Given the description of an element on the screen output the (x, y) to click on. 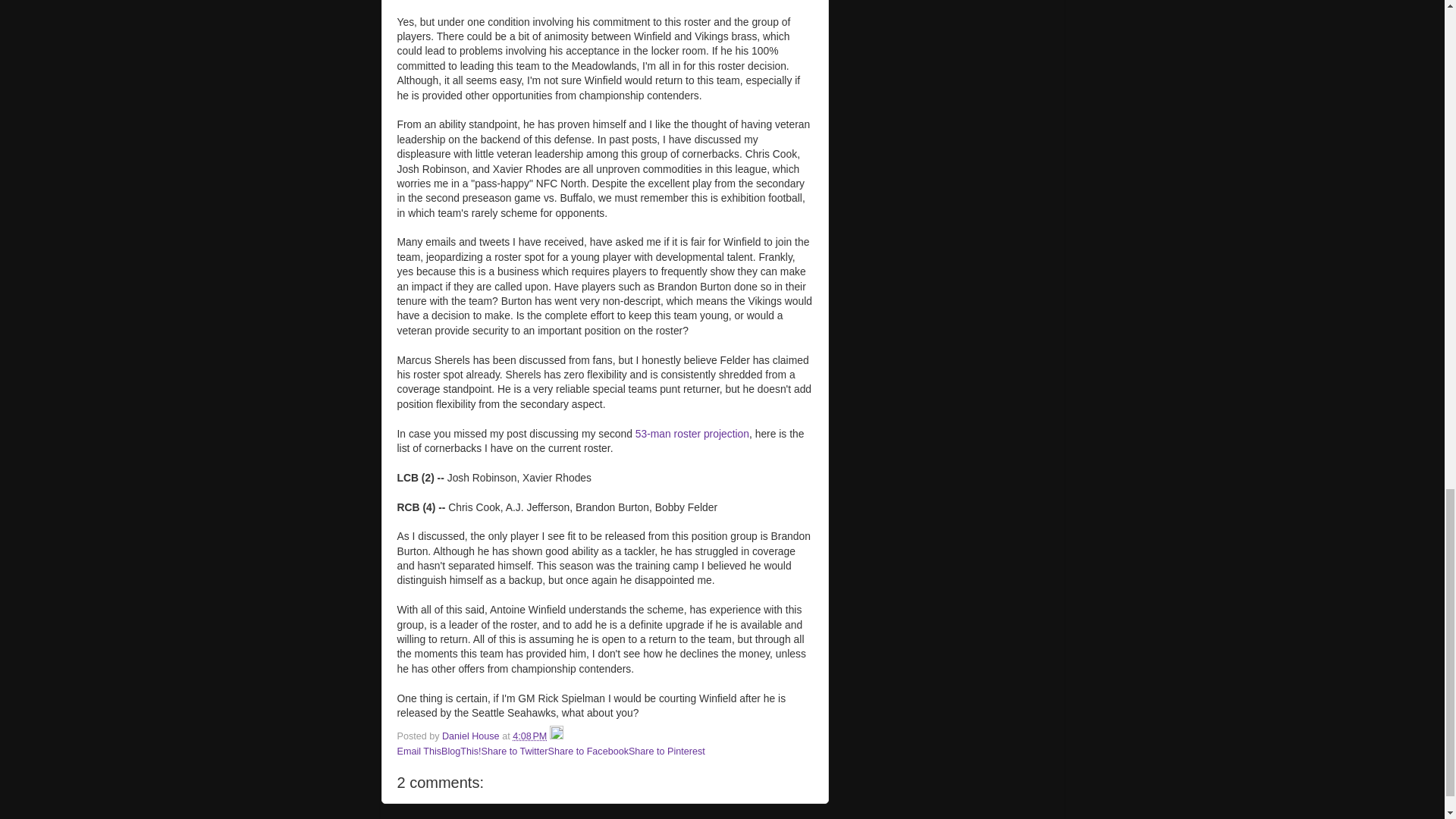
Share to Facebook (588, 751)
Share to Twitter (514, 751)
Email This (419, 751)
Share to Pinterest (666, 751)
Share to Facebook (588, 751)
53-man roster projection (691, 433)
Daniel House (472, 736)
BlogThis! (461, 751)
Email This (419, 751)
permanent link (529, 736)
author profile (472, 736)
Edit Post (556, 736)
BlogThis! (461, 751)
Share to Pinterest (666, 751)
